Given the description of an element on the screen output the (x, y) to click on. 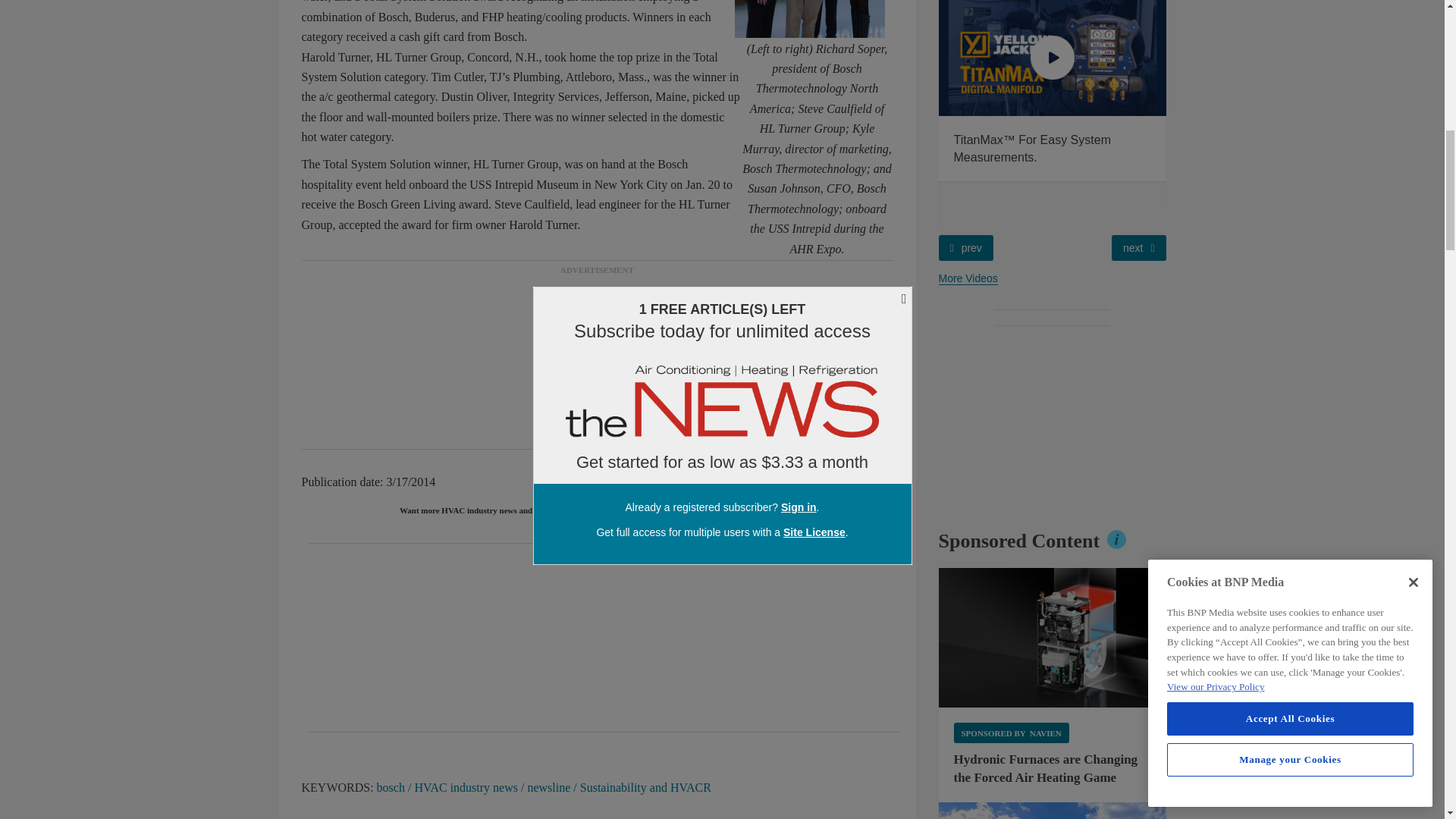
Sponsored by Navien (1010, 732)
Texas Frio Cold Storage (1052, 810)
Hydronic Forced Air Furnace Diagram (1052, 637)
